Given the description of an element on the screen output the (x, y) to click on. 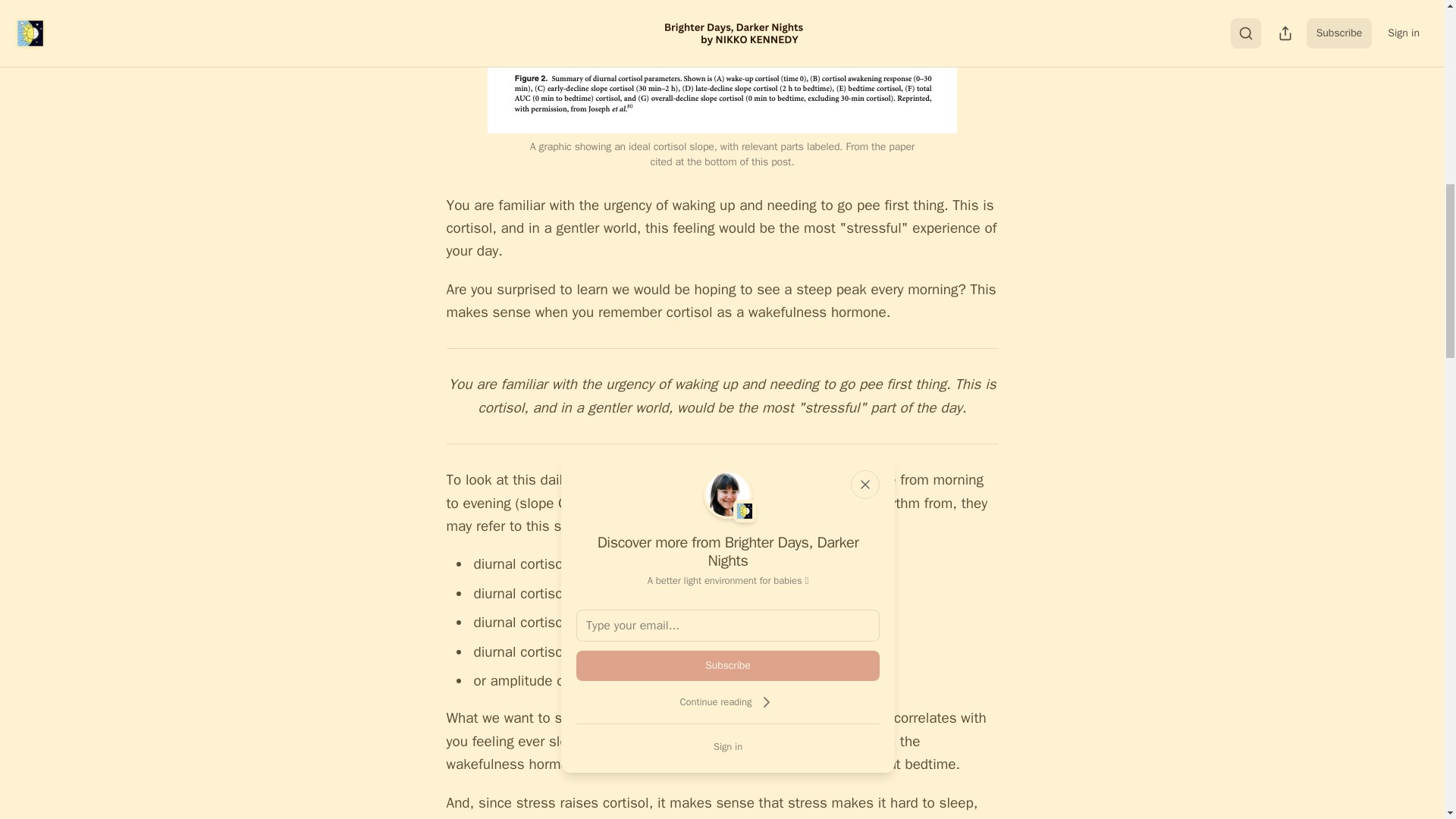
Sign in (727, 746)
Subscribe (727, 665)
